Given the description of an element on the screen output the (x, y) to click on. 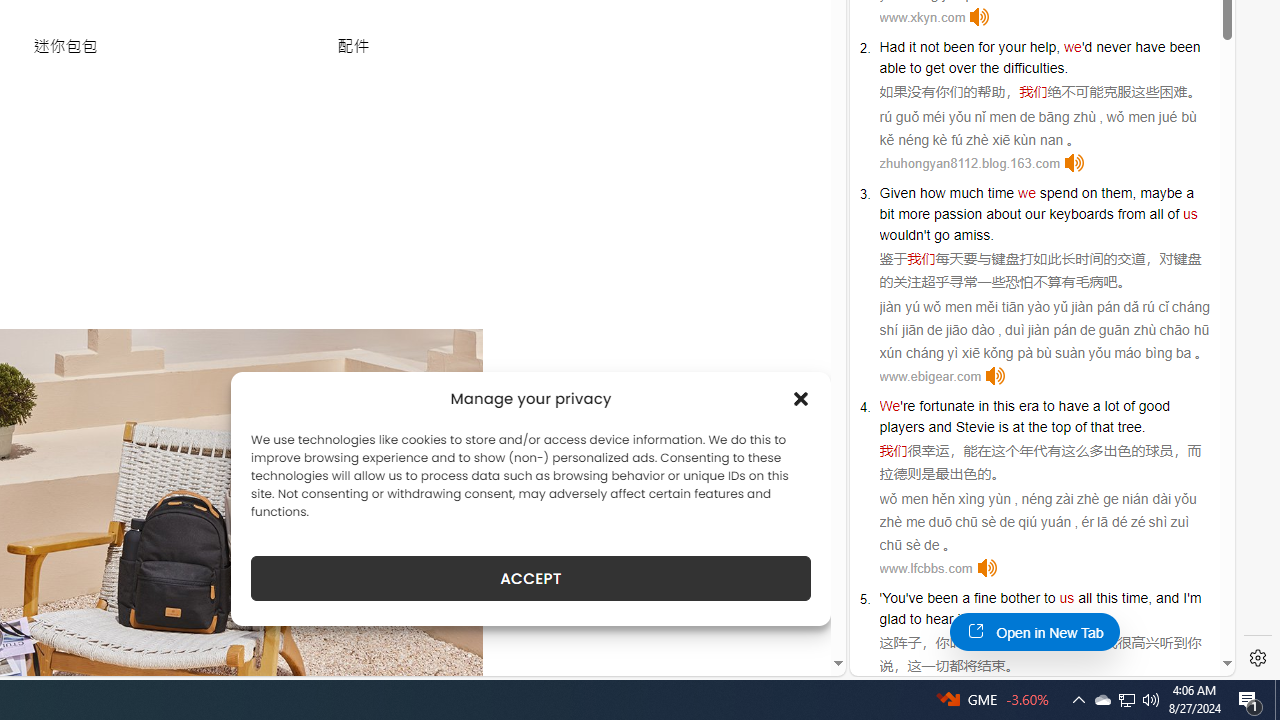
amiss (971, 234)
never (1113, 46)
Given (897, 192)
I (1184, 597)
lot (1111, 405)
, (1150, 597)
time (1000, 192)
